Given the description of an element on the screen output the (x, y) to click on. 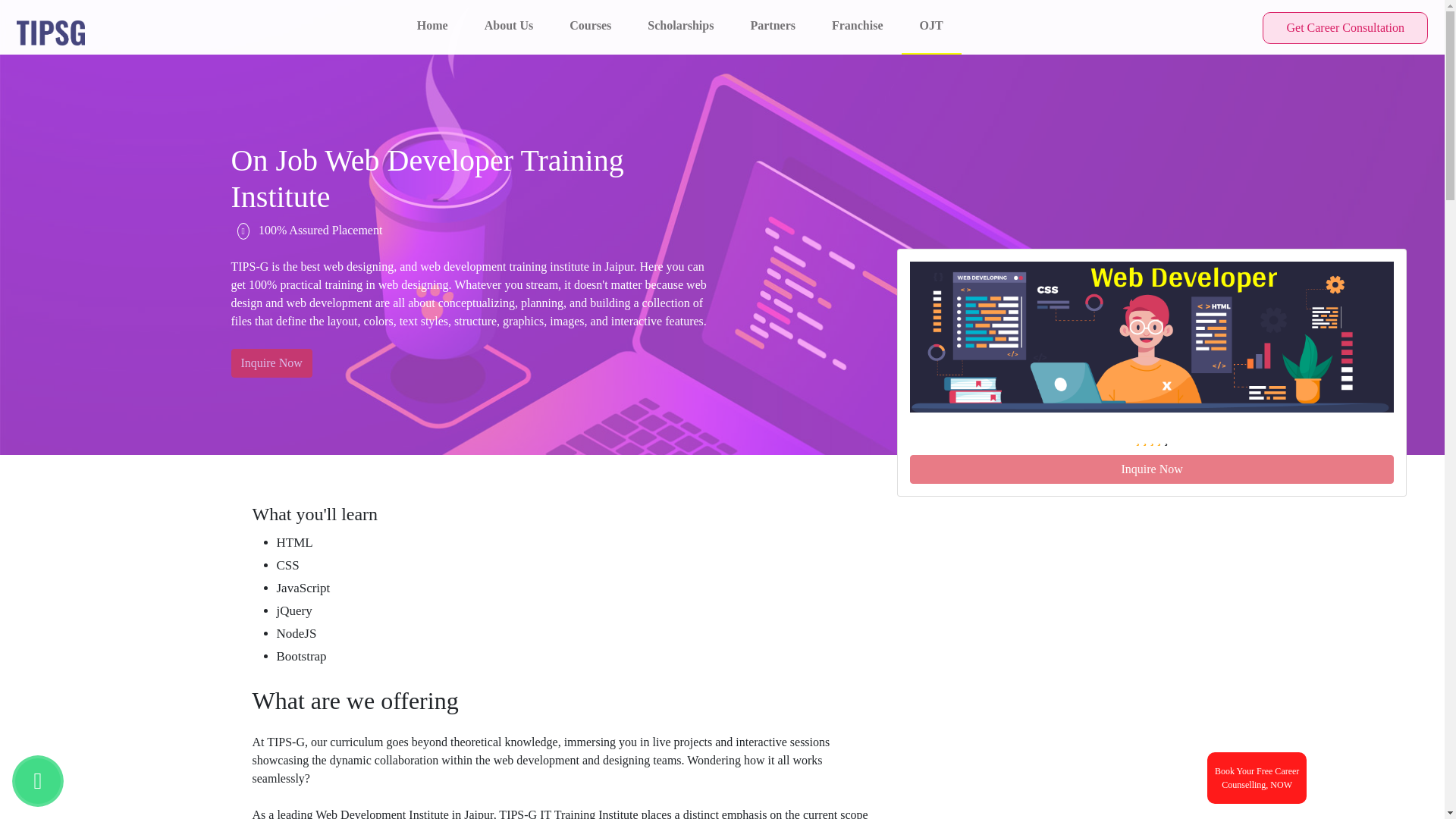
Partners (773, 25)
Courses (590, 25)
Inquire Now (1256, 777)
Franchise (1151, 469)
Scholarships (857, 25)
About Us (680, 25)
Home (508, 25)
Get Career Consultation (432, 25)
Inquire Now (1345, 28)
OJT (270, 362)
